Given the description of an element on the screen output the (x, y) to click on. 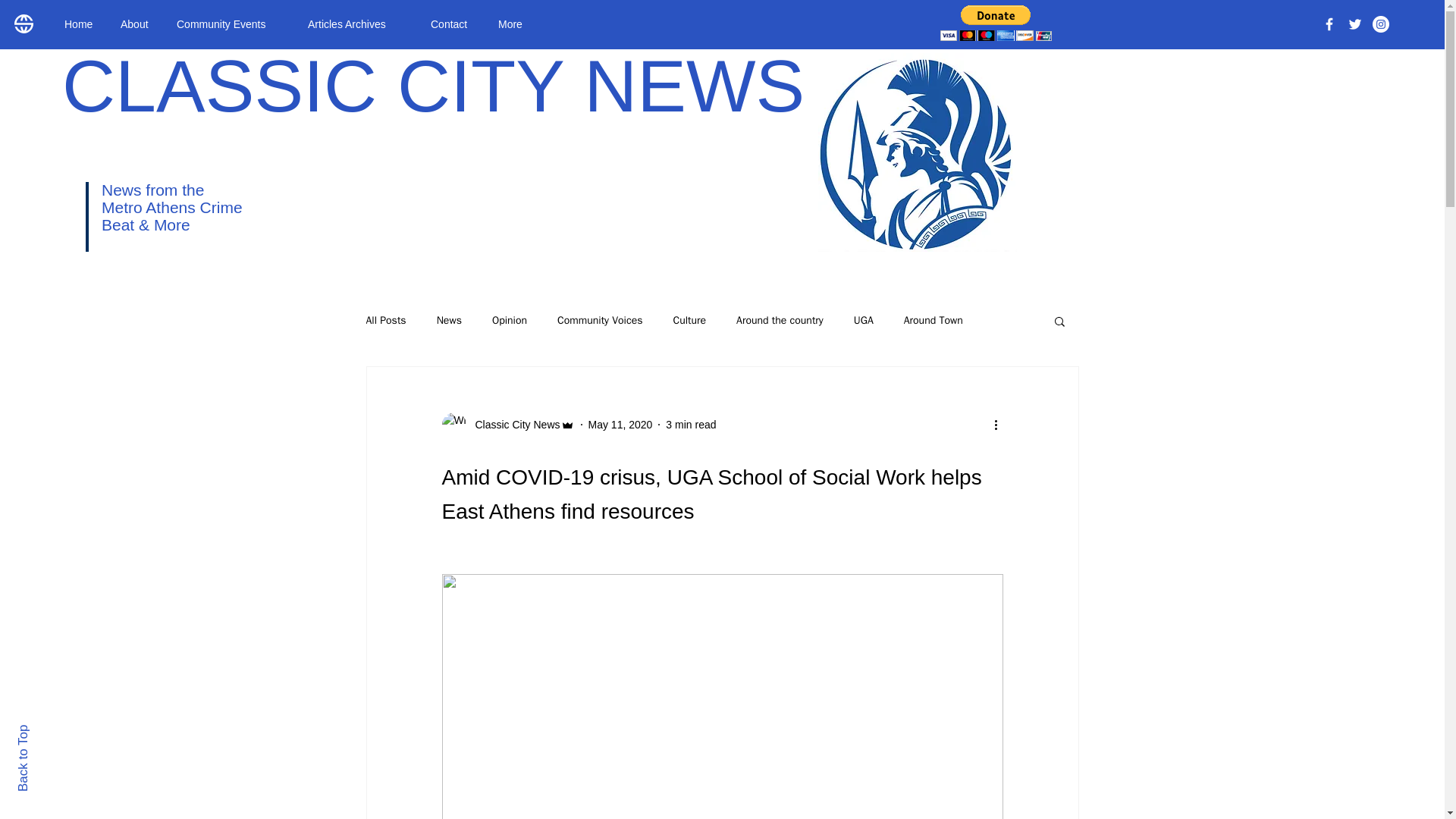
May 11, 2020 (620, 424)
Articles Archives (358, 24)
CLASSIC CITY NEWS (433, 86)
Around Town (933, 320)
Contact (452, 24)
3 min read (690, 424)
About (137, 24)
UGA (863, 320)
Around the country (780, 320)
Opinion (509, 320)
Community Voices (599, 320)
Culture (689, 320)
Classic City News (507, 424)
Classic City News (512, 424)
Home (80, 24)
